Given the description of an element on the screen output the (x, y) to click on. 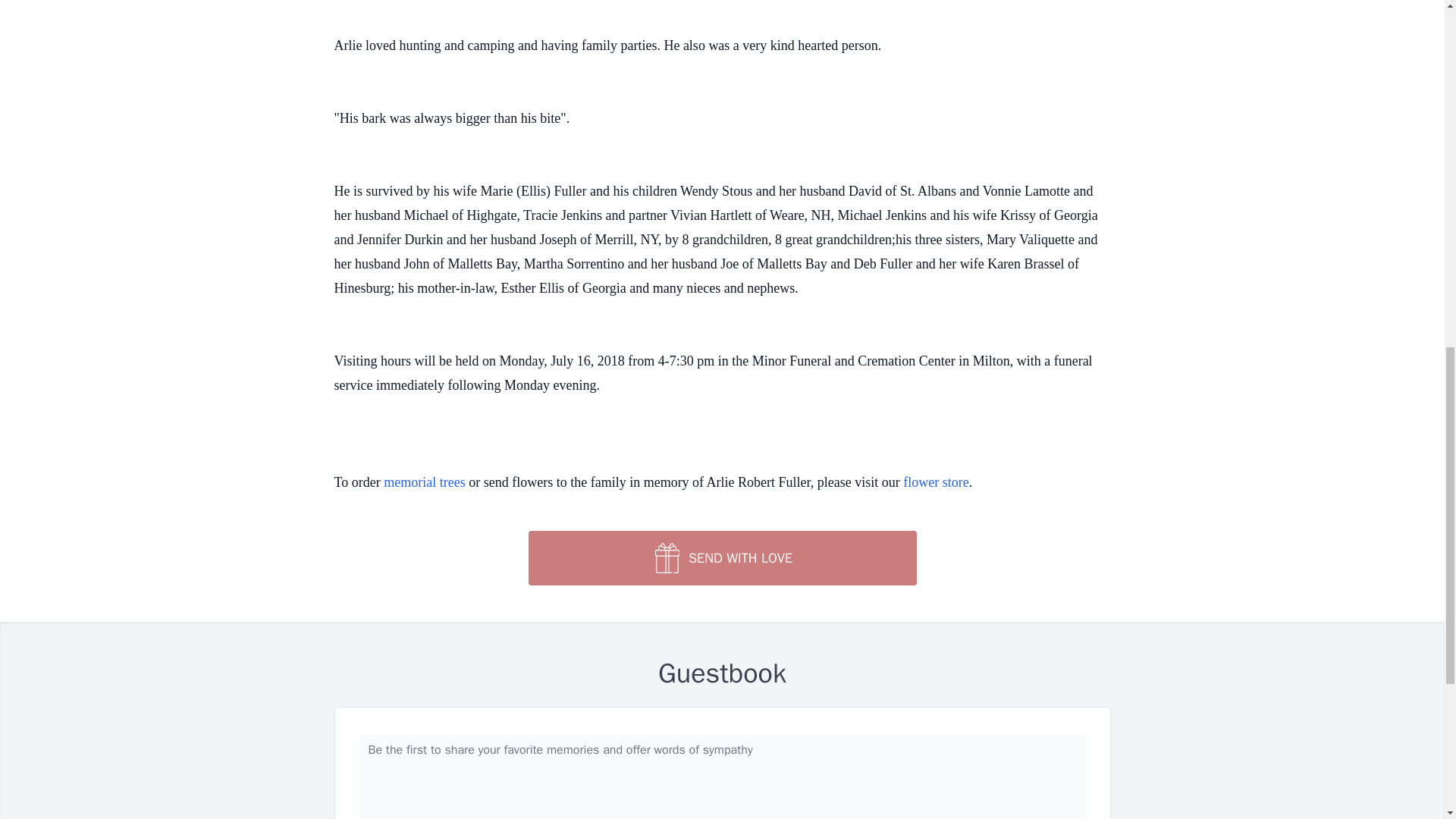
SEND WITH LOVE (721, 557)
memorial trees (424, 482)
flower store (935, 482)
